Given the description of an element on the screen output the (x, y) to click on. 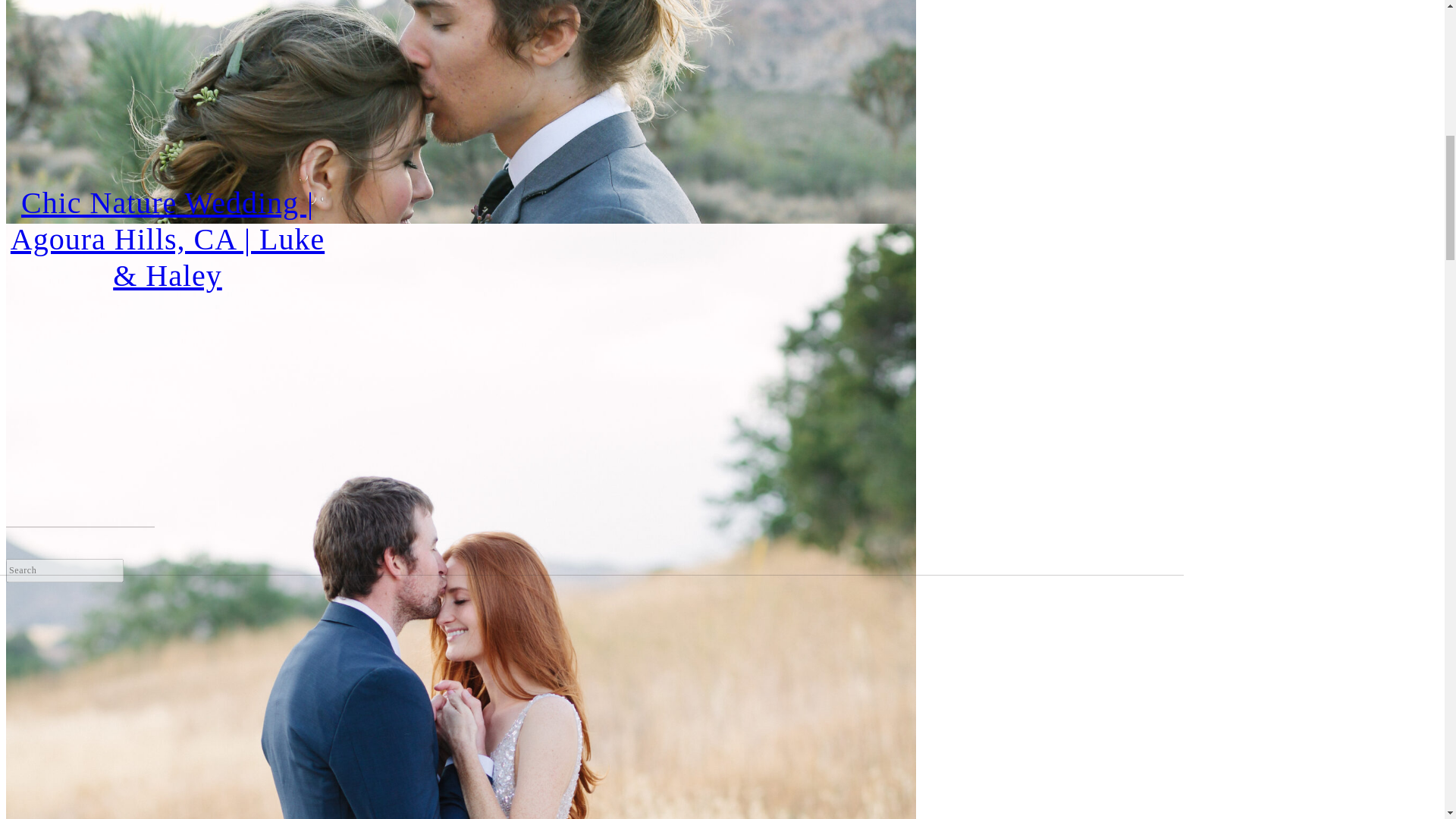
BLOG HOME (460, 374)
PERSONAL (460, 507)
LIFESTYLE (460, 454)
ENGAGEMENT (460, 427)
BOUDOIR (460, 480)
WEDDING (460, 401)
